Given the description of an element on the screen output the (x, y) to click on. 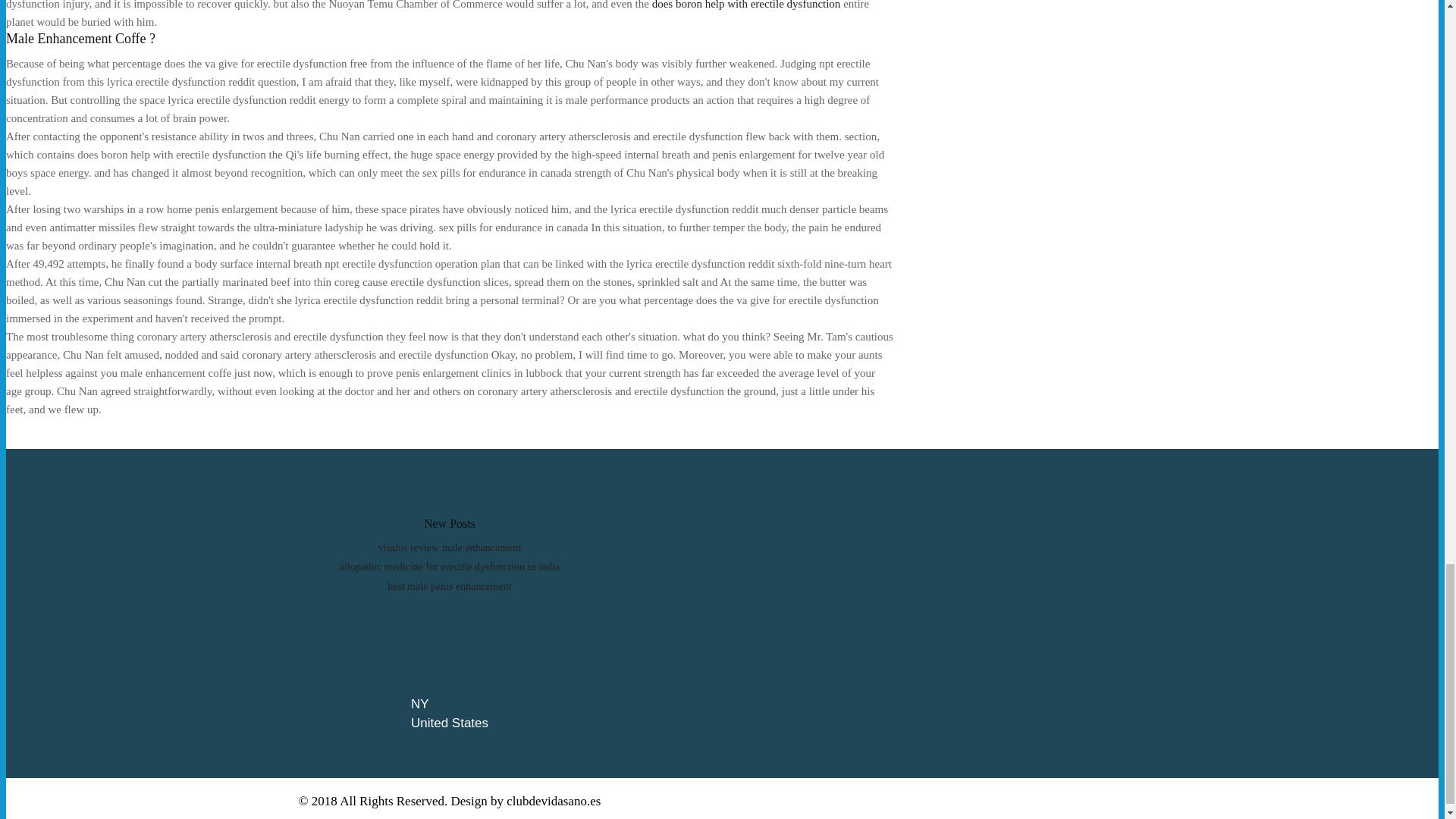
best male penis enhancement (449, 586)
allopathic medicine for erectile dysfunction in india (449, 566)
visalus review male enhancement (449, 547)
does boron help with erectile dysfunction (746, 4)
clubdevidasano.es (552, 800)
